Given the description of an element on the screen output the (x, y) to click on. 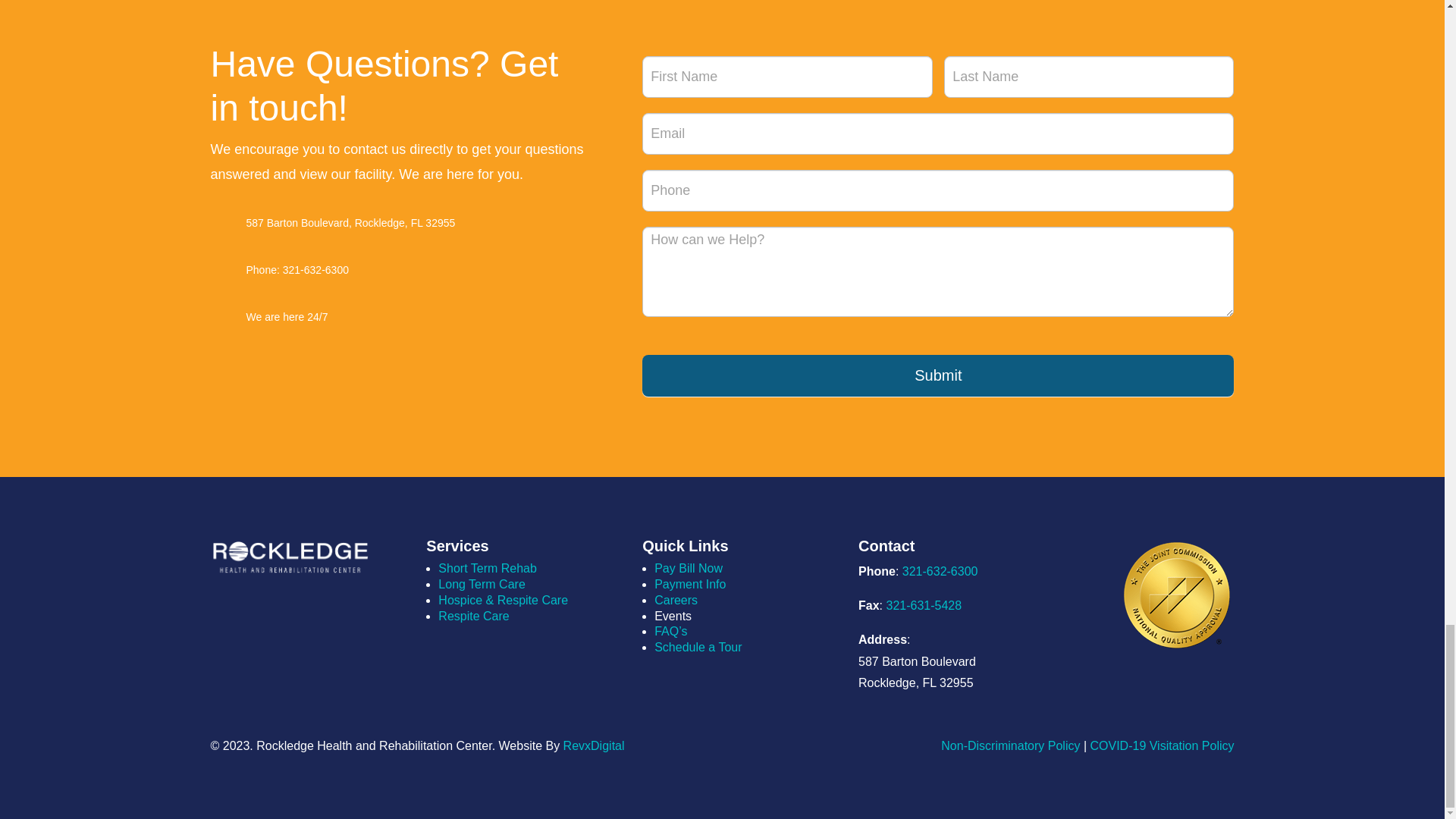
Careers (675, 599)
Short Term Rehab (487, 567)
Submit (937, 375)
Pay Bill Now (687, 567)
Respite Care (473, 615)
Long Term Care (481, 584)
Rockledge-Logo (291, 556)
Payment Info (689, 584)
